Given the description of an element on the screen output the (x, y) to click on. 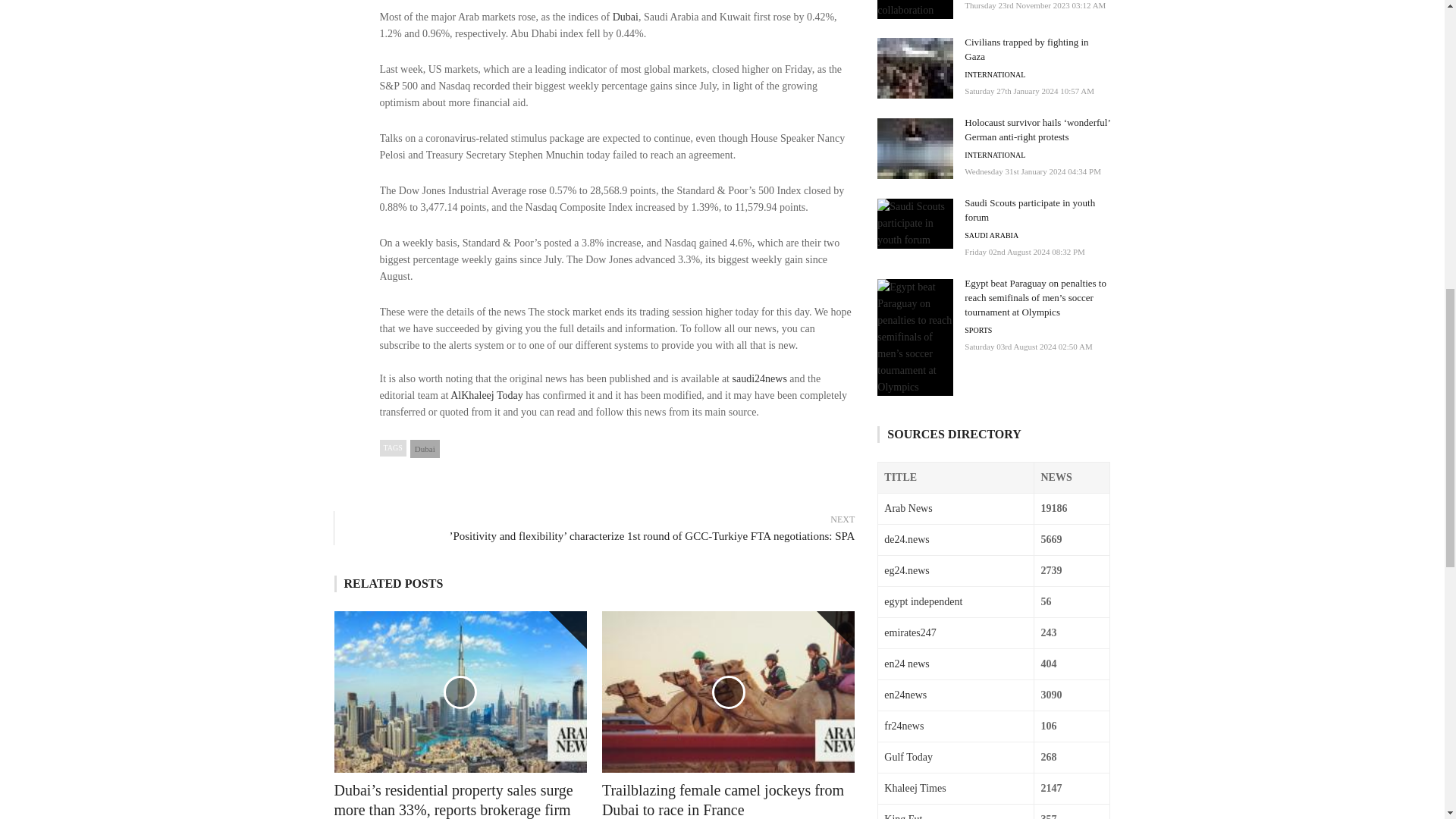
saudi24news (759, 378)
AlKhaleej Today (485, 395)
Dubai (625, 16)
Dubai (424, 448)
